Given the description of an element on the screen output the (x, y) to click on. 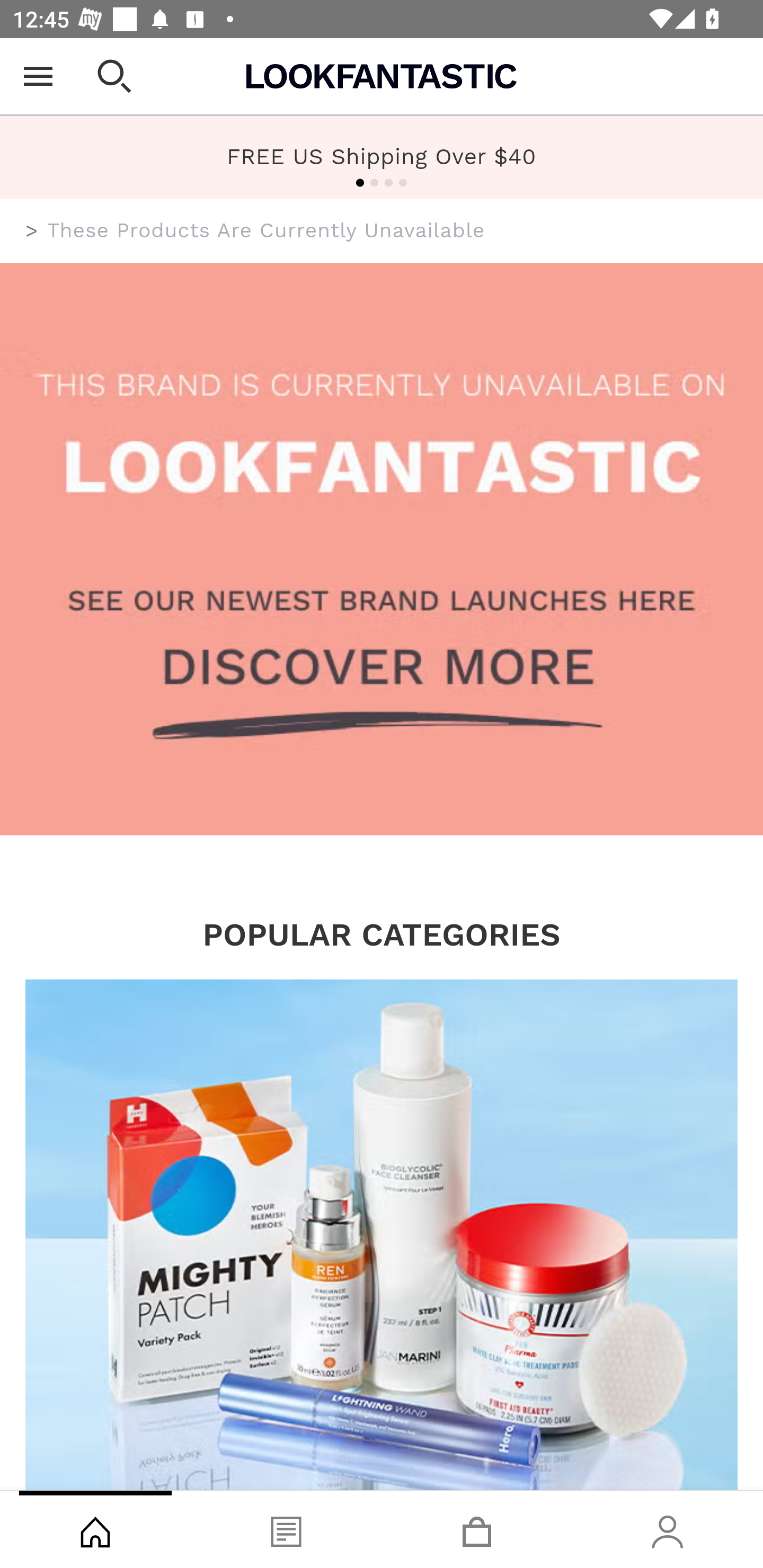
Open Menu (38, 75)
Open search (114, 75)
Lookfantastic USA (381, 75)
FREE US Shipping Over $40 (381, 157)
FREE US Shipping Over $40 (381, 155)
us.lookfantastic (32, 230)
POPULAR CATEGORIES Skin Care (381, 1203)
Skin Care (381, 1234)
Shop, tab, 1 of 4 (95, 1529)
Blog, tab, 2 of 4 (285, 1529)
Basket, tab, 3 of 4 (476, 1529)
Account, tab, 4 of 4 (667, 1529)
